Given the description of an element on the screen output the (x, y) to click on. 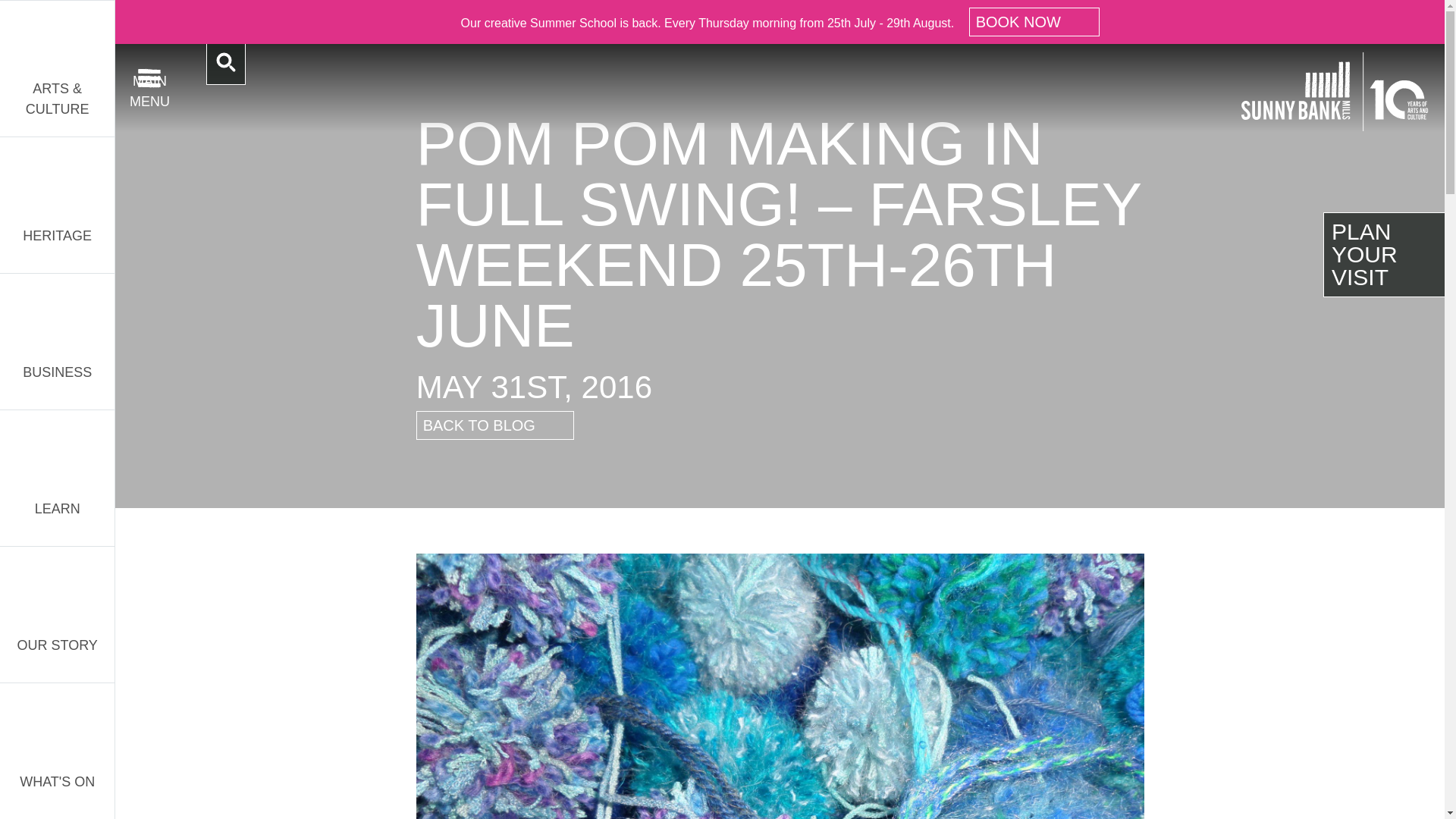
MAIN MENU (149, 78)
BOOK NOW (1034, 21)
BACK TO BLOG (494, 425)
